Given the description of an element on the screen output the (x, y) to click on. 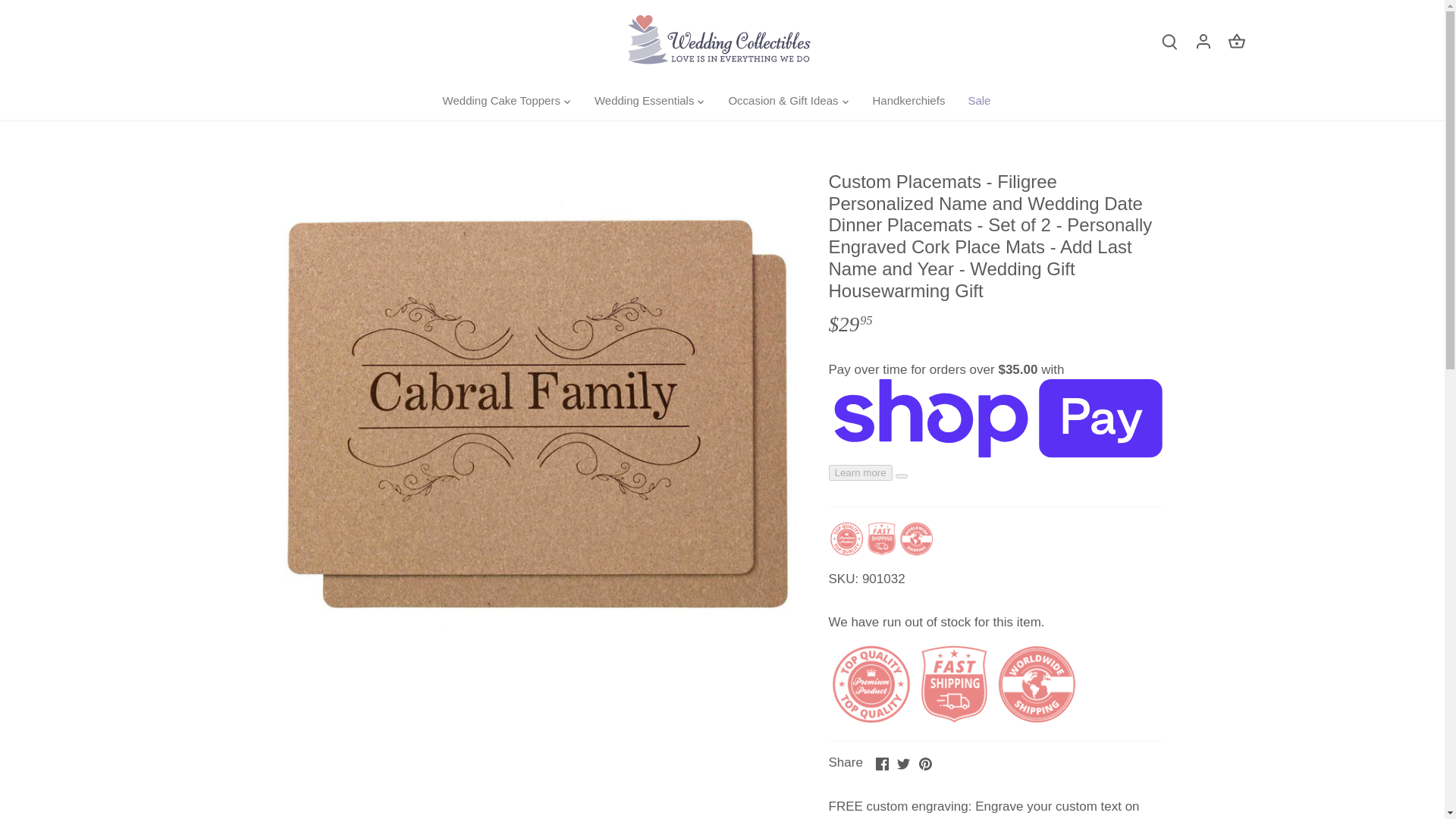
Wedding Cake Toppers (507, 101)
Pinterest (924, 763)
Twitter (903, 763)
Facebook (881, 763)
